Given the description of an element on the screen output the (x, y) to click on. 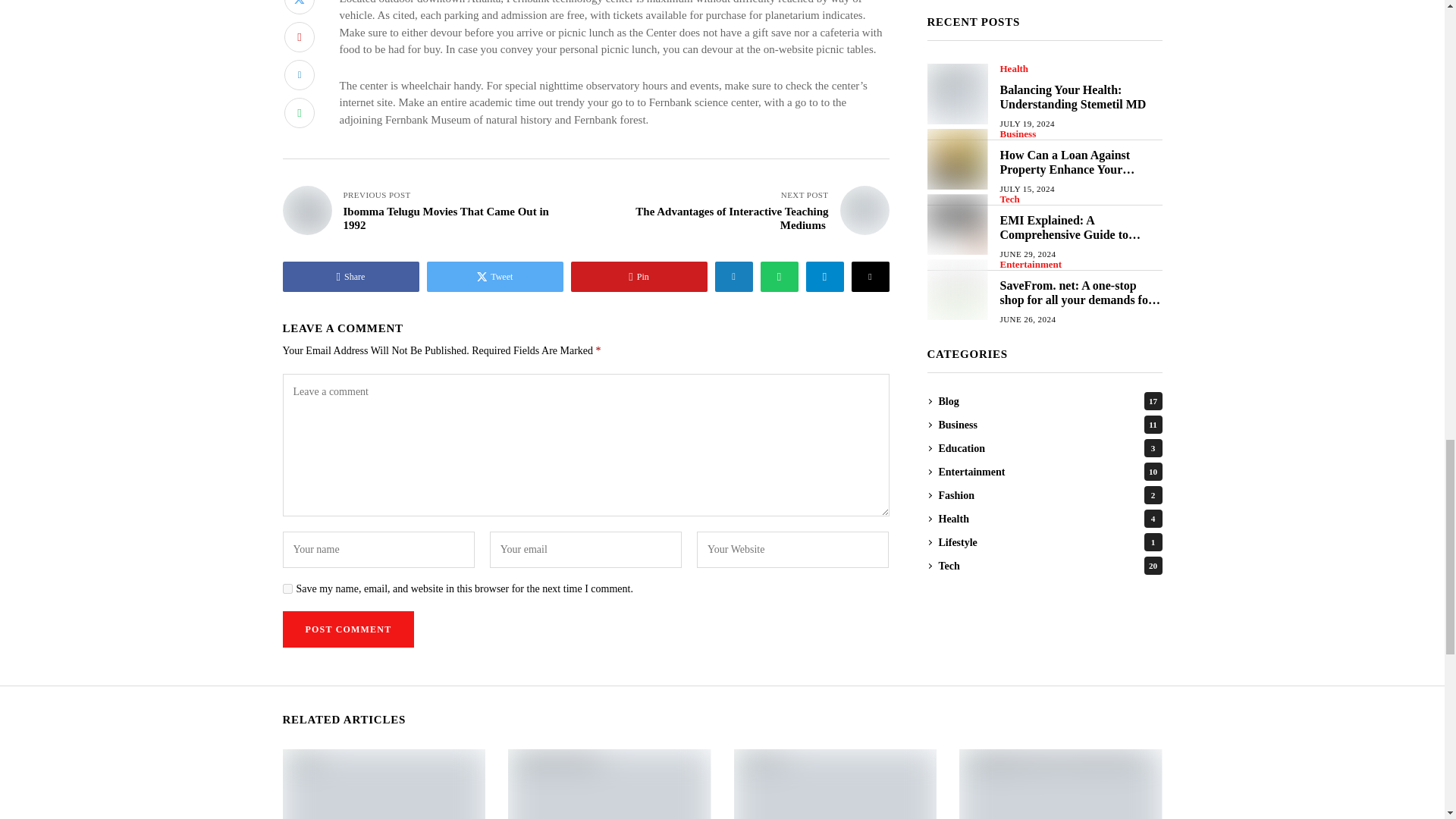
Post Comment (347, 628)
yes (287, 588)
